Given the description of an element on the screen output the (x, y) to click on. 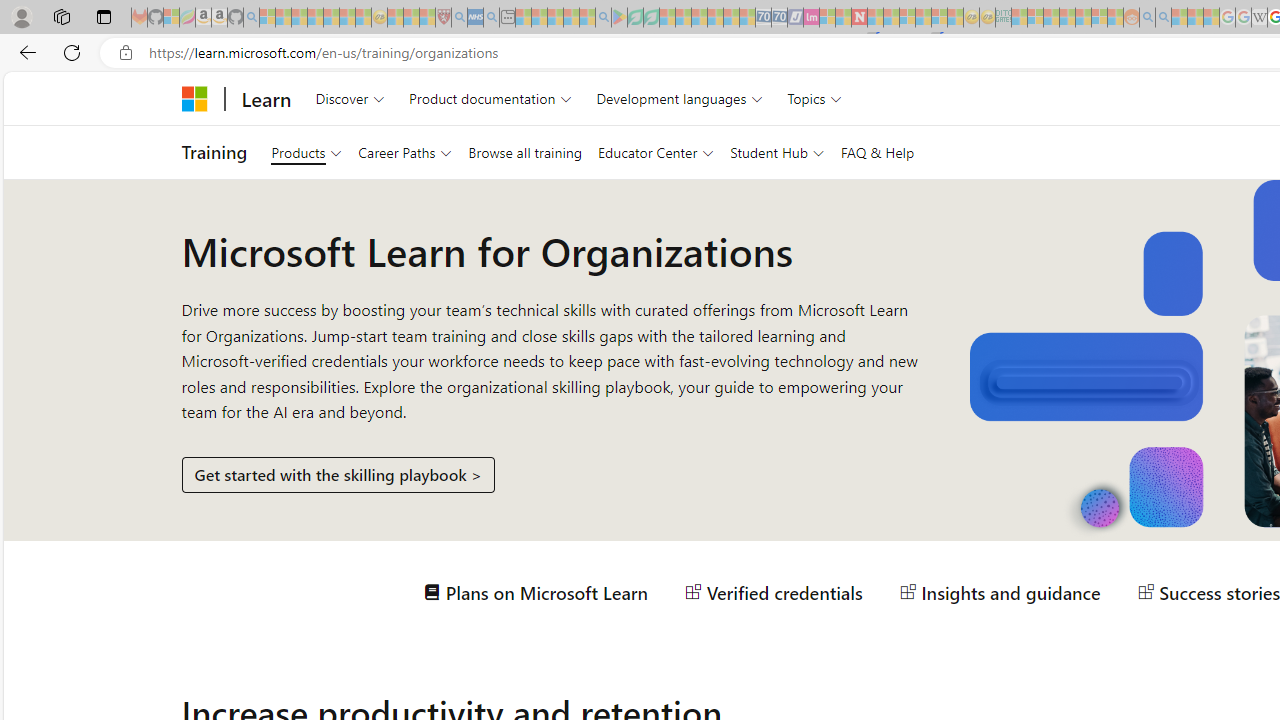
MSNBC - MSN - Sleeping (1019, 17)
14 Common Myths Debunked By Scientific Facts - Sleeping (891, 17)
Student Hub (777, 152)
Bluey: Let's Play! - Apps on Google Play - Sleeping (619, 17)
Development languages (679, 98)
Get started with the skilling playbook > (338, 474)
